Given the description of an element on the screen output the (x, y) to click on. 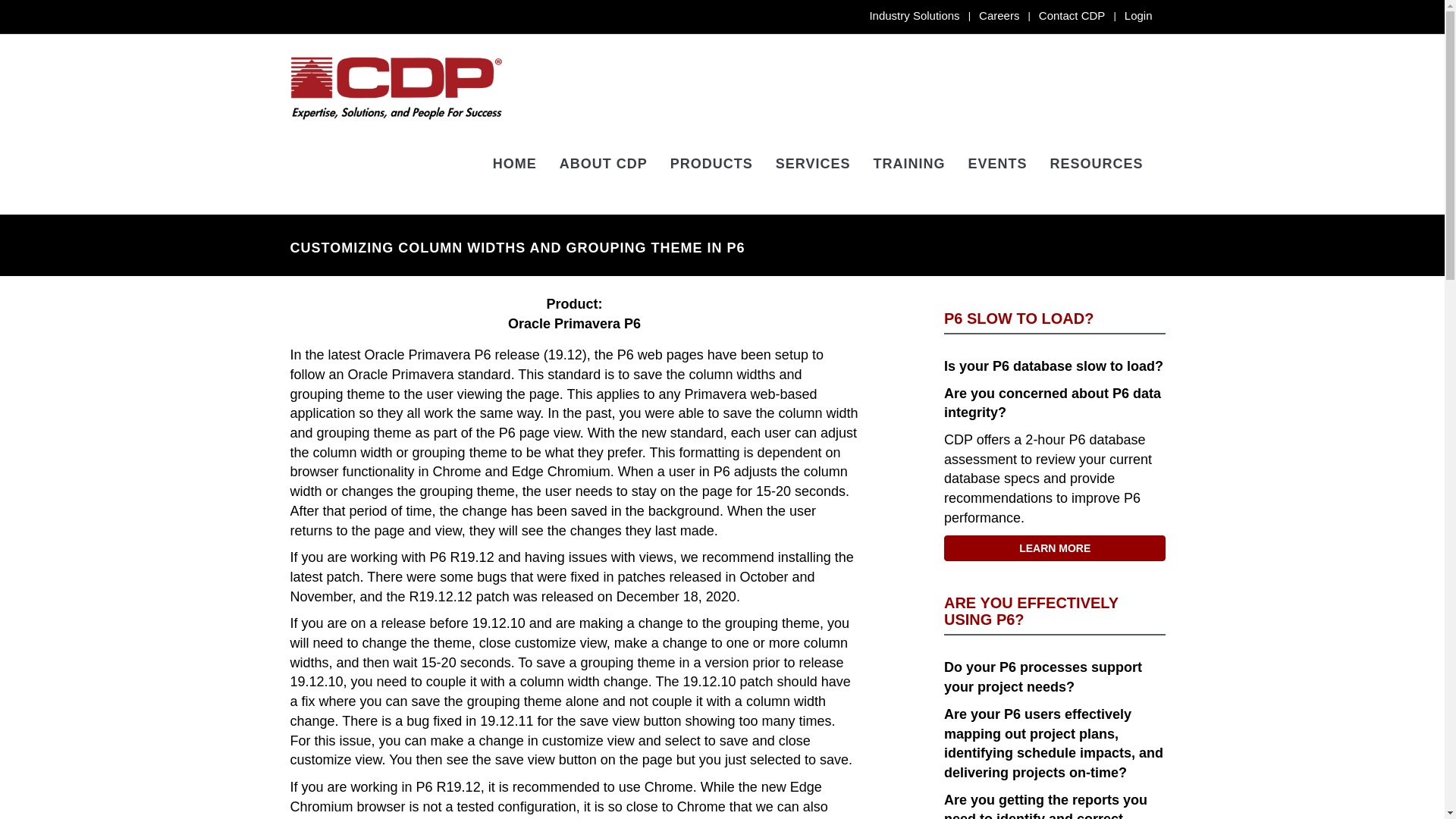
Contact CDP (1072, 15)
Learn about CDP's industry-leading product portfolio (711, 162)
About CDP (603, 162)
Learn more about CDP services (812, 162)
ABOUT CDP (603, 162)
PRODUCTS (711, 162)
Careers (998, 15)
Login (1138, 15)
Industry Solutions (914, 15)
